Given the description of an element on the screen output the (x, y) to click on. 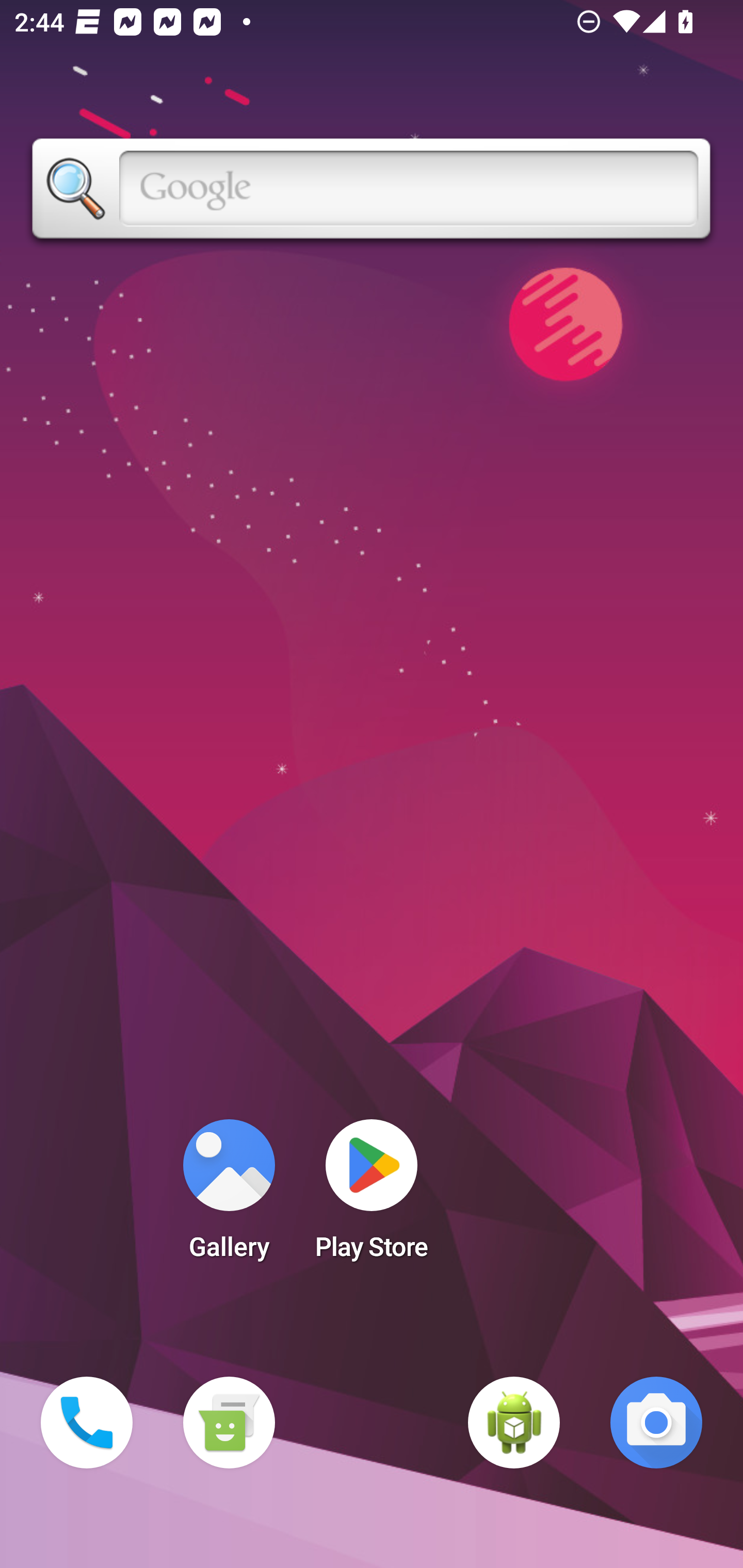
Gallery (228, 1195)
Play Store (371, 1195)
Phone (86, 1422)
Messaging (228, 1422)
WebView Browser Tester (513, 1422)
Camera (656, 1422)
